Given the description of an element on the screen output the (x, y) to click on. 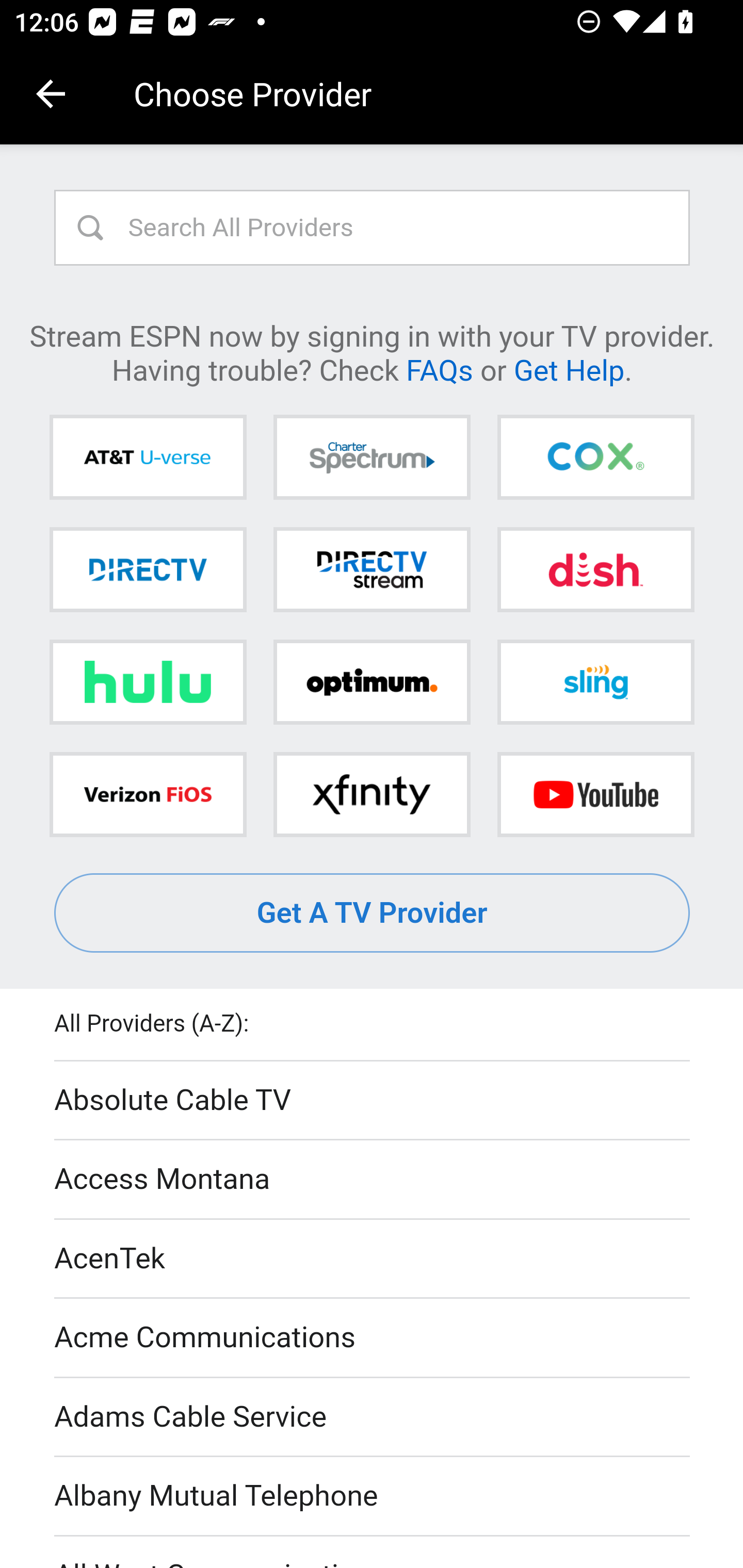
Navigate up (50, 93)
FAQs (438, 369)
Get Help (569, 369)
AT&T U-verse (147, 457)
Charter Spectrum (371, 457)
Cox (595, 457)
DIRECTV (147, 568)
DIRECTV STREAM (371, 568)
DISH (595, 568)
Hulu (147, 681)
Optimum (371, 681)
Sling TV (595, 681)
Verizon FiOS (147, 793)
Xfinity (371, 793)
YouTube TV (595, 793)
Get A TV Provider (372, 912)
Absolute Cable TV (372, 1100)
Access Montana (372, 1178)
AcenTek (372, 1258)
Acme Communications (372, 1338)
Adams Cable Service (372, 1417)
Albany Mutual Telephone (372, 1497)
